Given the description of an element on the screen output the (x, y) to click on. 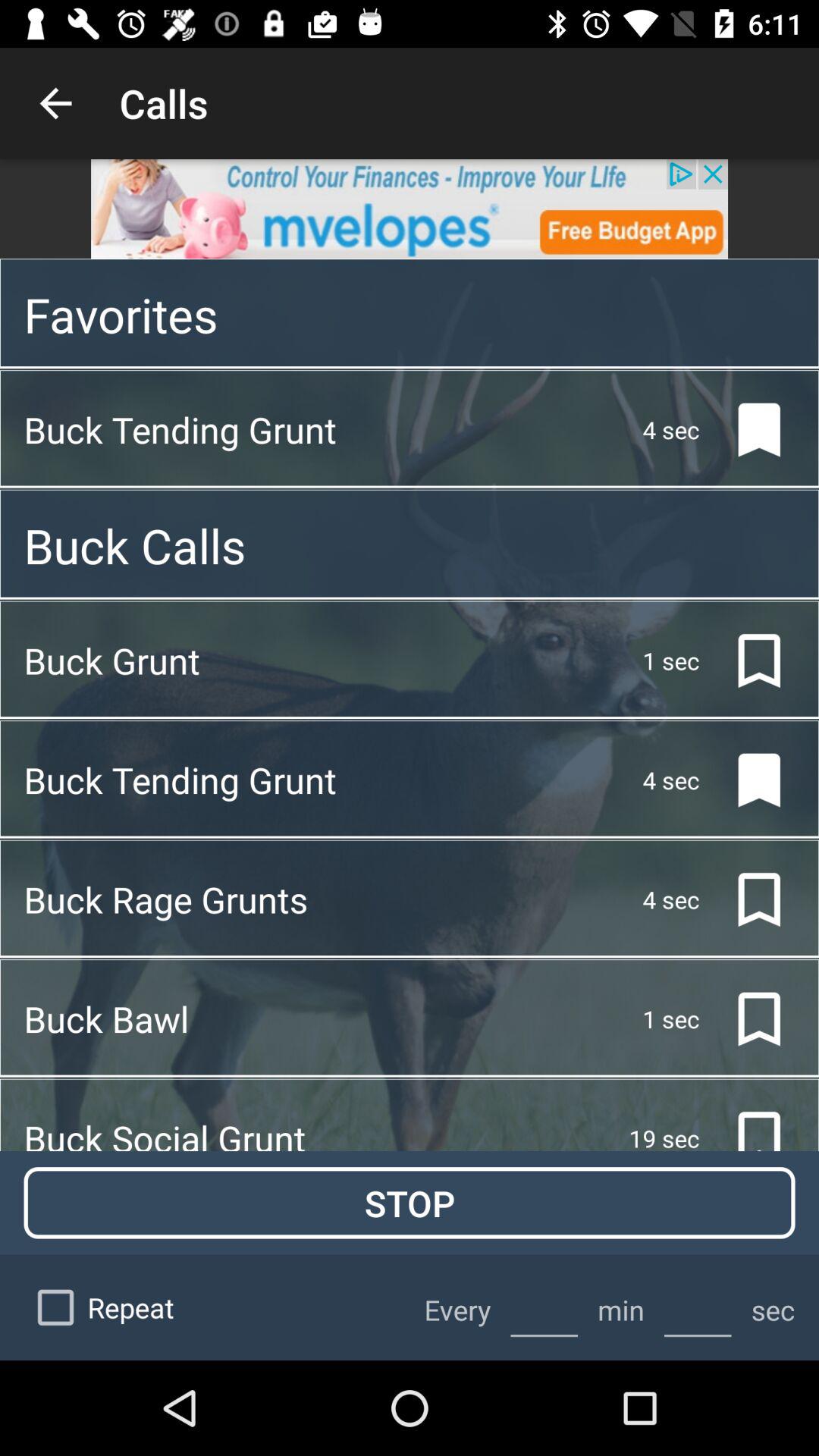
details about advertisement (409, 208)
